Given the description of an element on the screen output the (x, y) to click on. 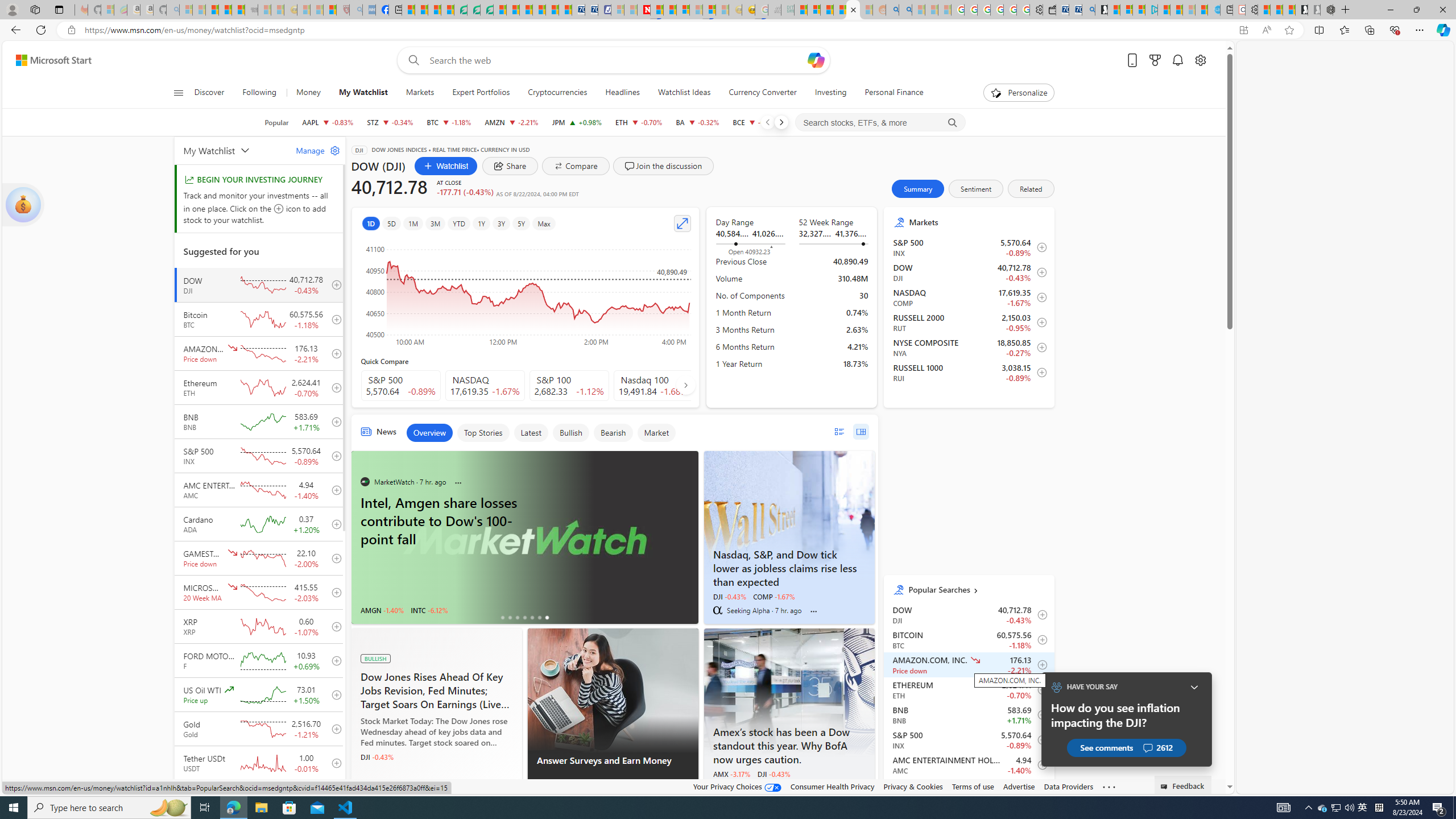
Currency Converter (762, 92)
Answer Surveys and Earn Money (612, 690)
AAPL APPLE INC. decrease 224.53 -1.87 -0.83% (328, 122)
Class: feedback_link_icon-DS-EntryPoint1-1 (1165, 786)
Local - MSN (329, 9)
Investing (830, 92)
